Given the description of an element on the screen output the (x, y) to click on. 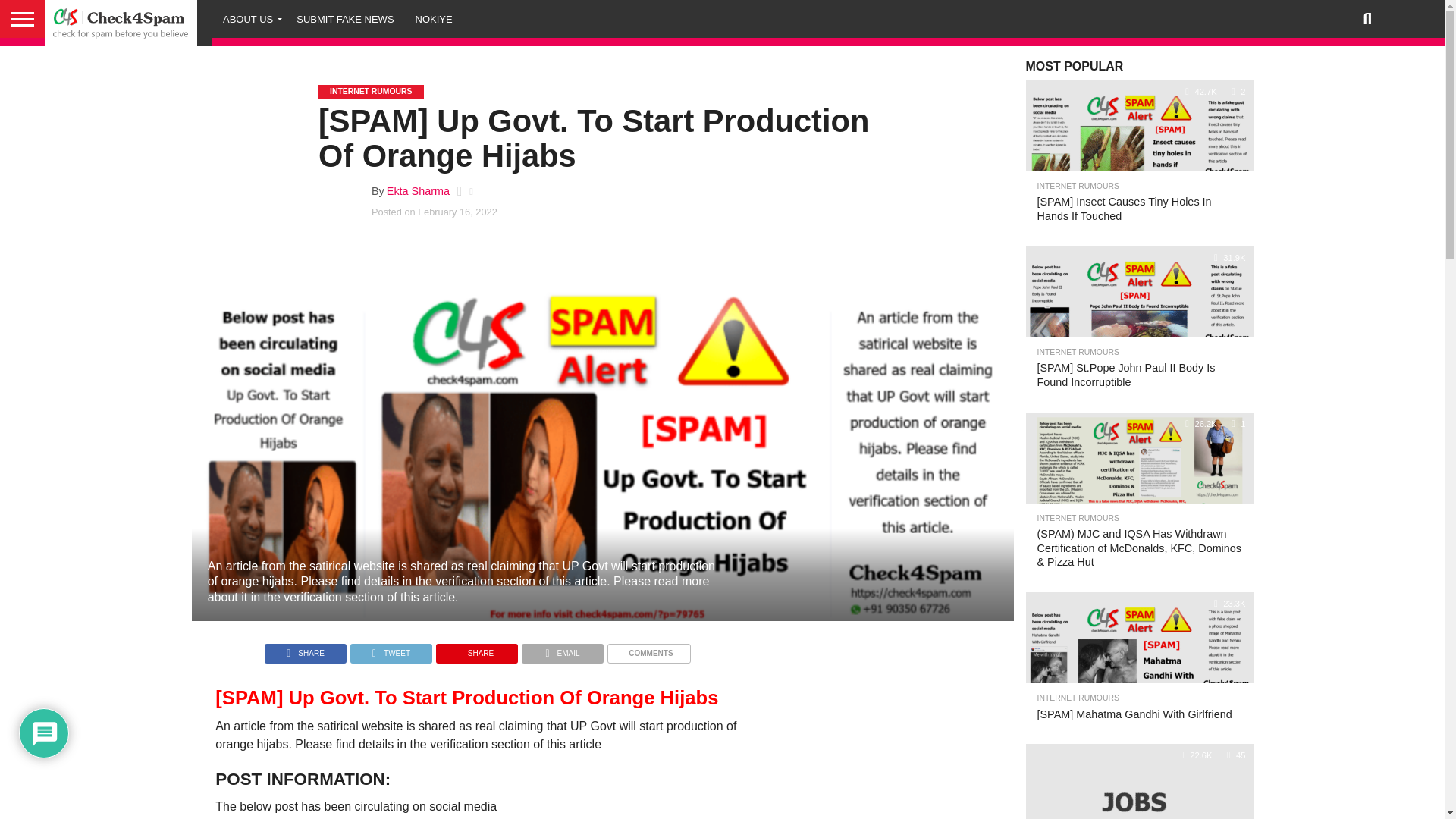
SHARE (476, 649)
NOKIYE (433, 18)
Pin This Post (476, 649)
Tweet This Post (390, 649)
Ekta Sharma (418, 191)
SHARE (305, 649)
EMAIL (562, 649)
Share on Facebook (305, 649)
TWEET (390, 649)
Posts by Ekta Sharma (418, 191)
ABOUT US (248, 18)
SUBMIT FAKE NEWS (344, 18)
COMMENTS (648, 649)
